Given the description of an element on the screen output the (x, y) to click on. 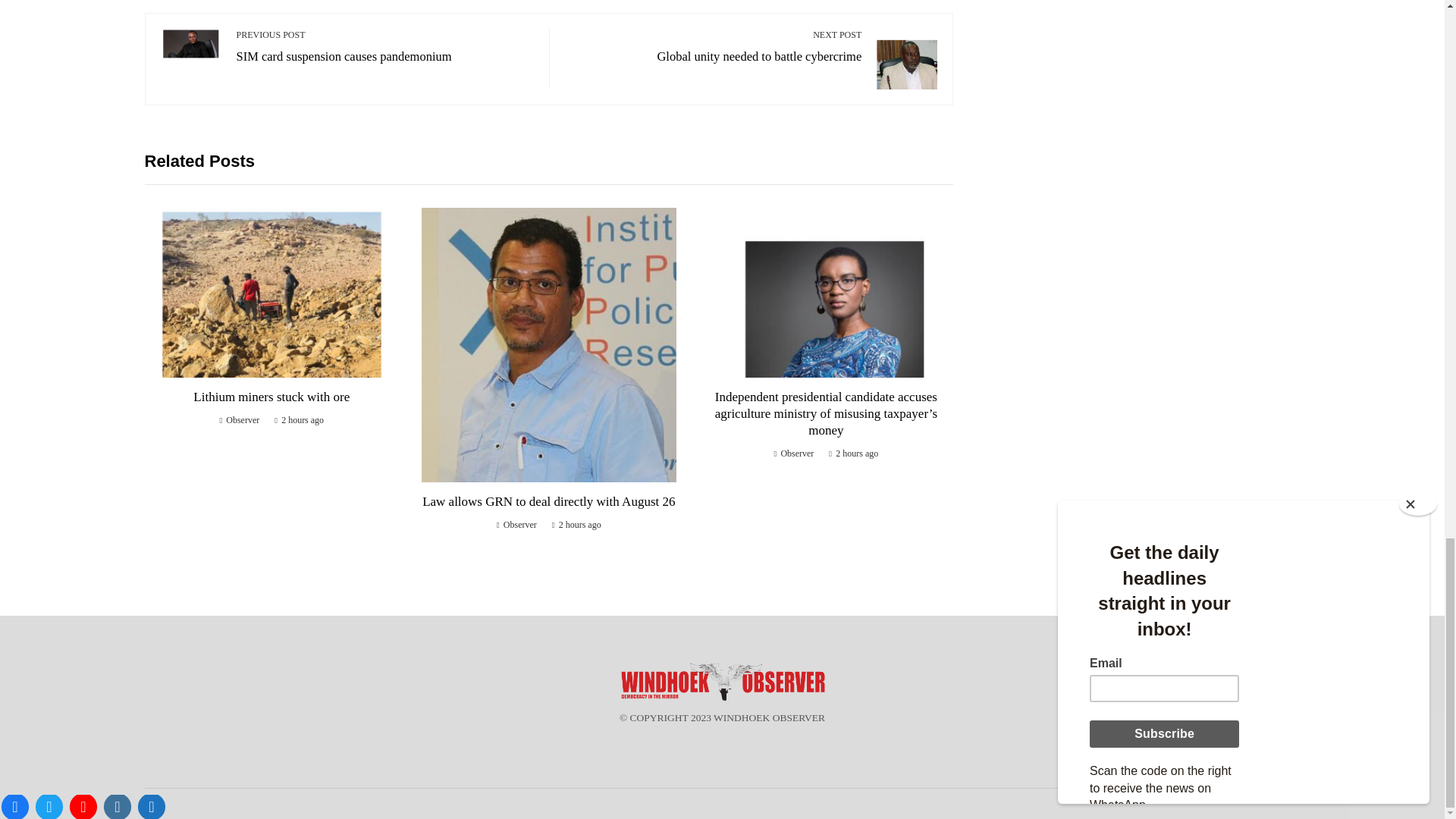
Lithium miners stuck with ore (712, 45)
Lithium miners stuck with ore (384, 45)
Law allows GRN to deal directly with August 26 (271, 396)
